Given the description of an element on the screen output the (x, y) to click on. 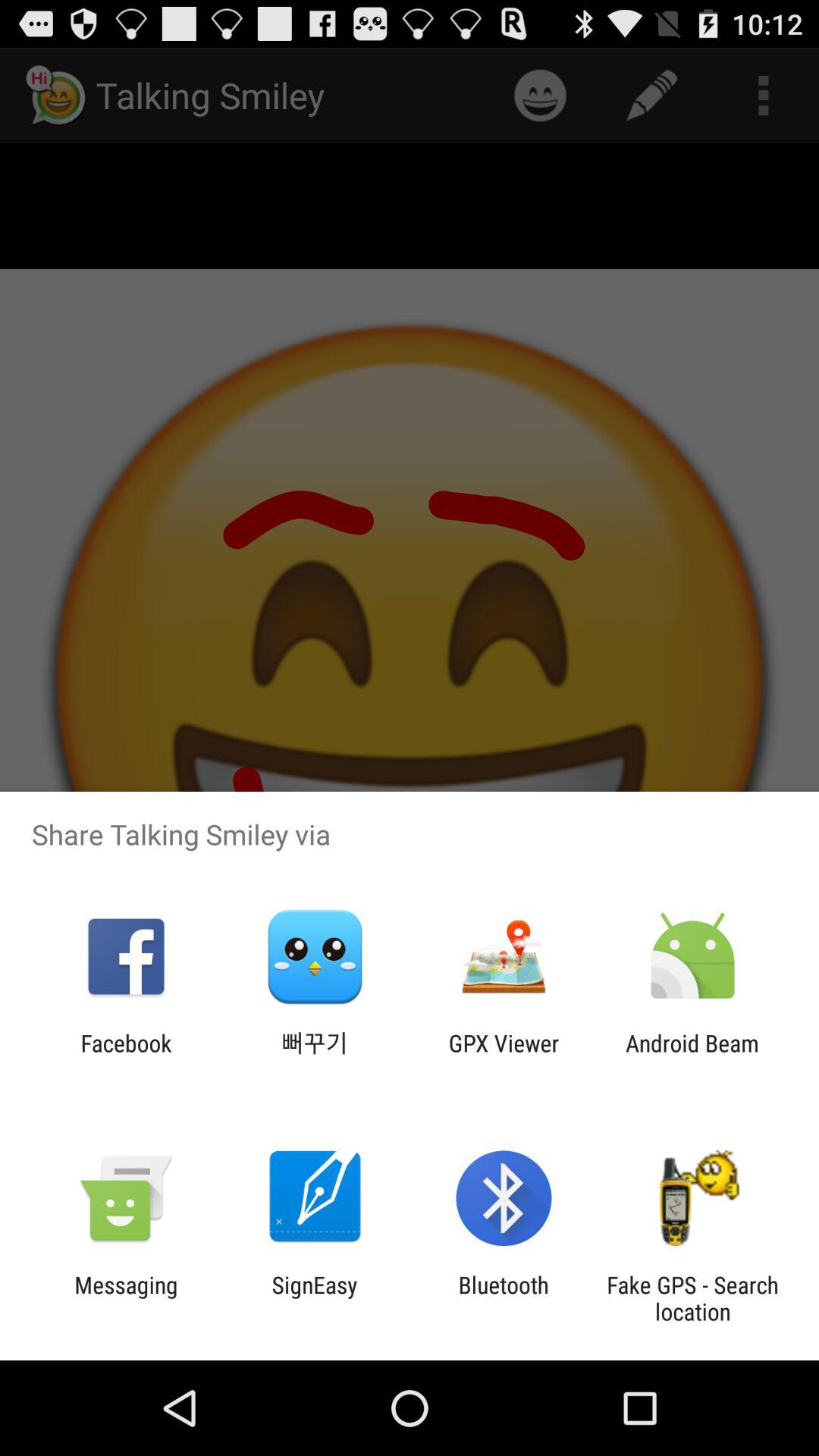
select the item to the left of the bluetooth item (314, 1298)
